Given the description of an element on the screen output the (x, y) to click on. 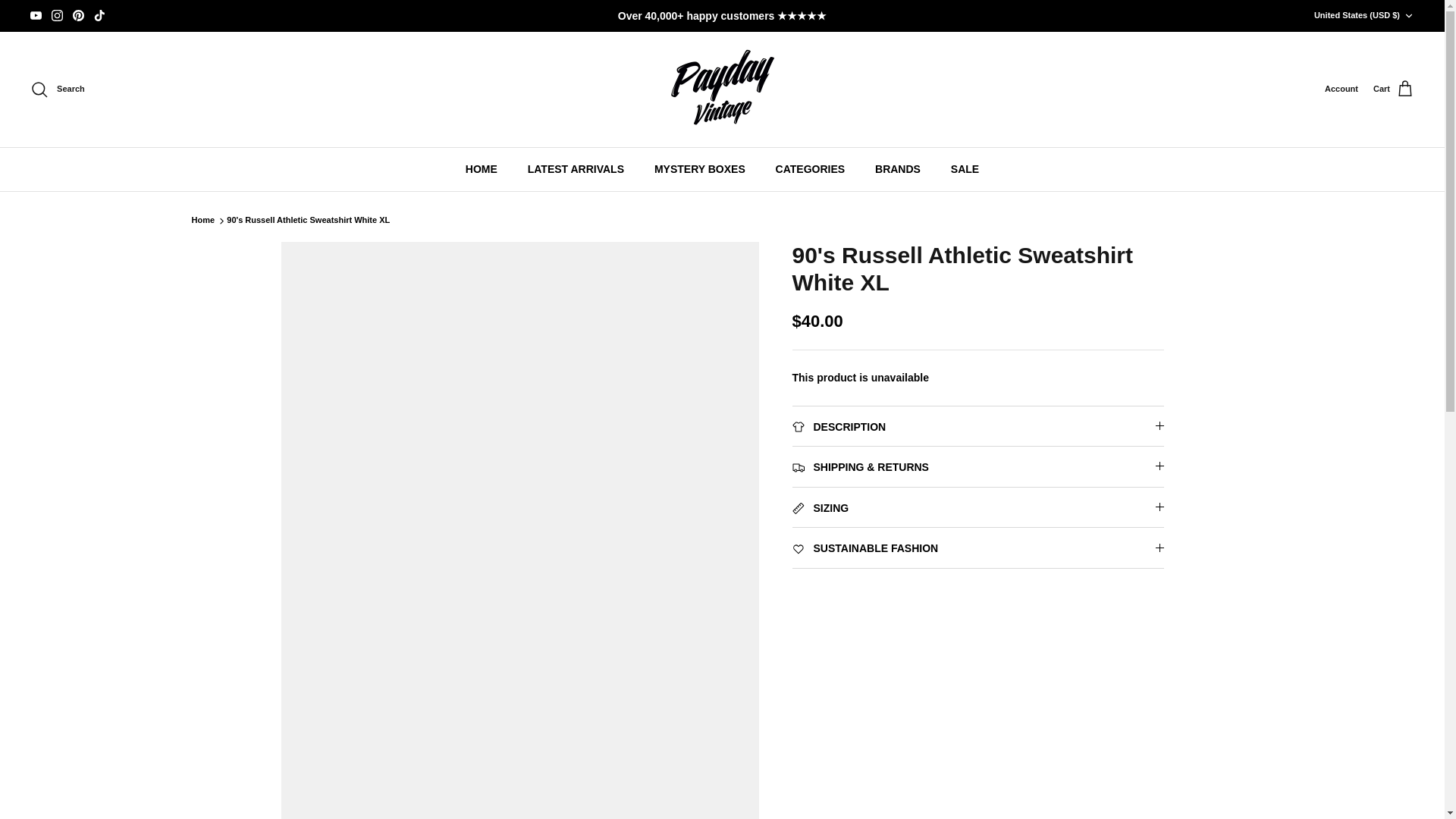
Pinterest (78, 15)
Down (1408, 15)
Pinterest (78, 15)
Instagram (56, 15)
Youtube (36, 15)
Instagram (56, 15)
Youtube (36, 15)
Payday Vintage (721, 88)
